Given the description of an element on the screen output the (x, y) to click on. 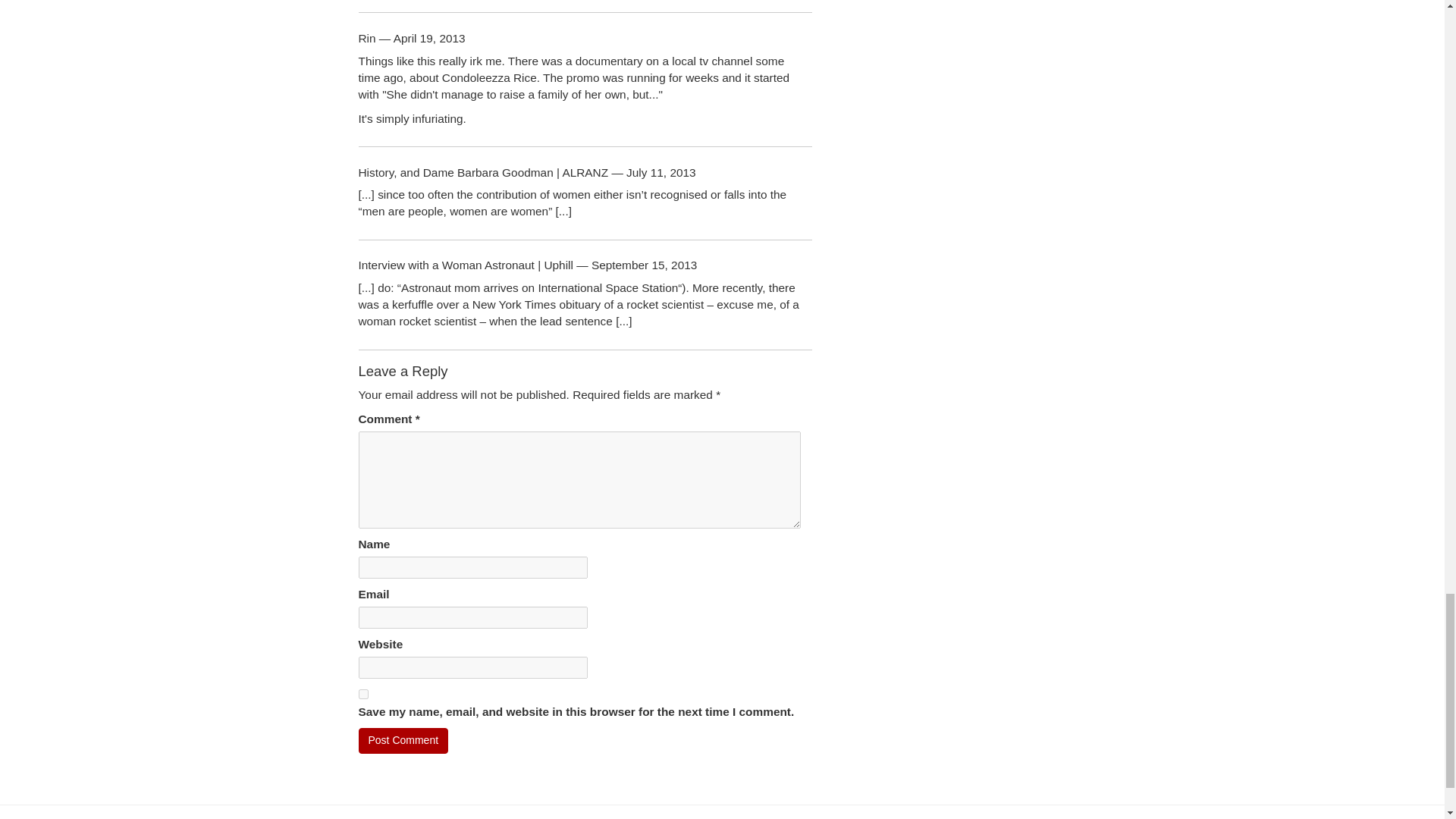
Post Comment (403, 740)
yes (363, 694)
